Given the description of an element on the screen output the (x, y) to click on. 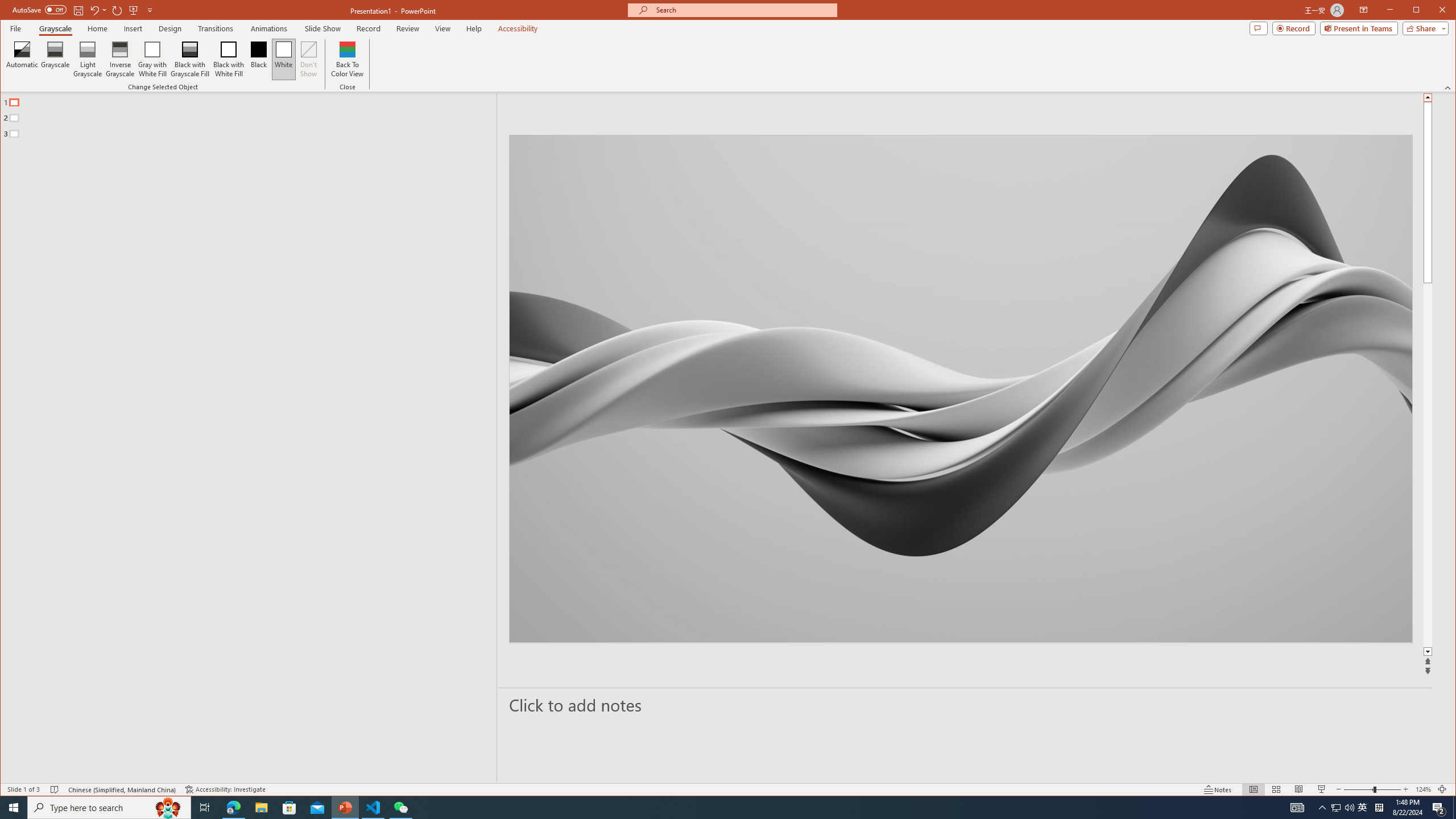
Slide Notes (965, 704)
Redo (117, 9)
Black with White Fill (229, 59)
PowerPoint - 1 running window (345, 807)
Animations (269, 28)
Grayscale (55, 59)
Line up (1427, 96)
Don't Show (308, 59)
Transitions (215, 28)
Home (97, 28)
Collapse the Ribbon (1448, 87)
White (283, 59)
File Explorer (261, 807)
